Given the description of an element on the screen output the (x, y) to click on. 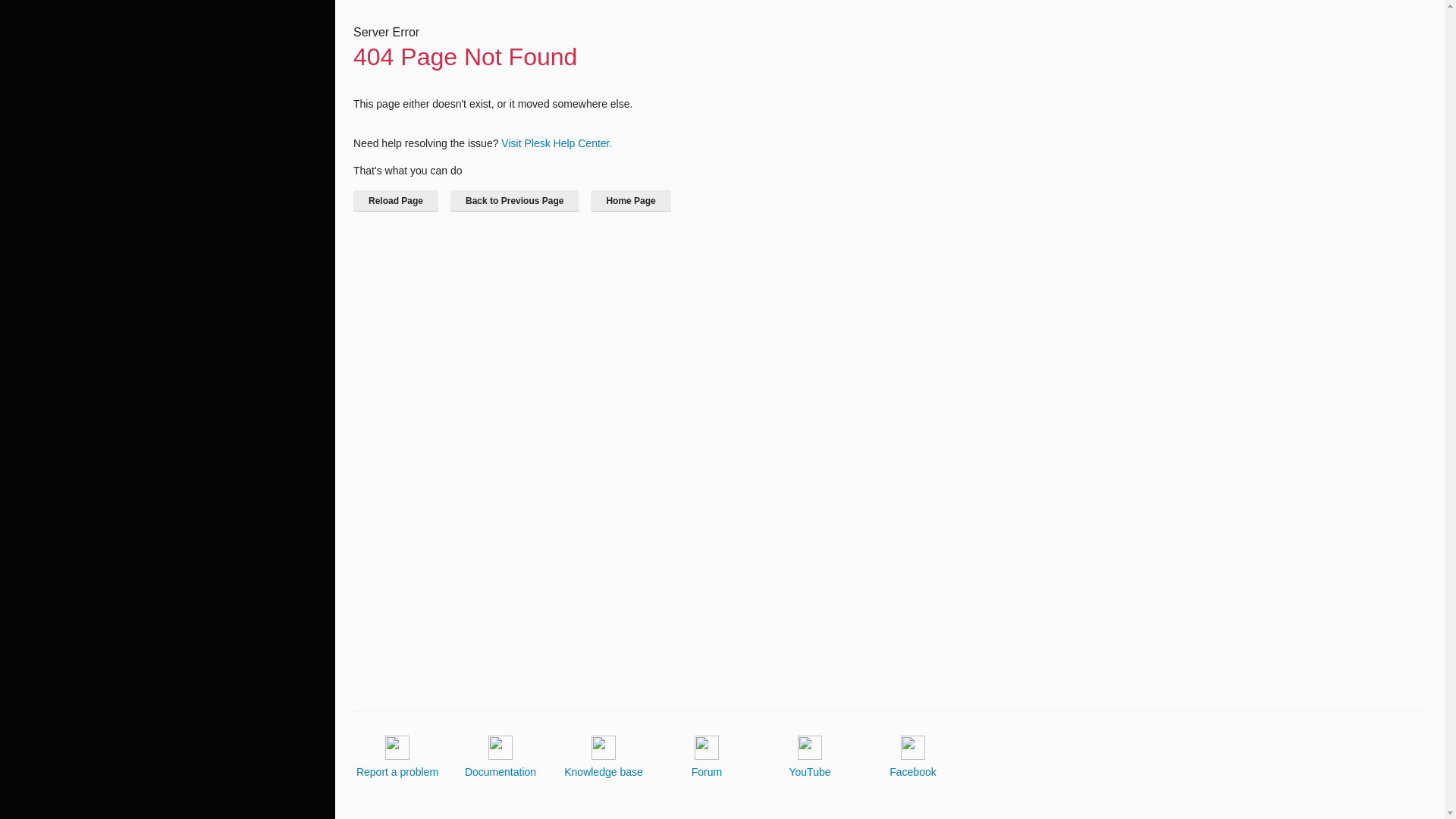
Documentation (500, 757)
Back to Previous Page (513, 200)
Knowledge base (603, 757)
Visit Plesk Help Center. (555, 143)
Forum (706, 757)
Reload Page (395, 200)
Report a problem (397, 757)
YouTube (809, 757)
Home Page (630, 200)
Facebook (912, 757)
